Given the description of an element on the screen output the (x, y) to click on. 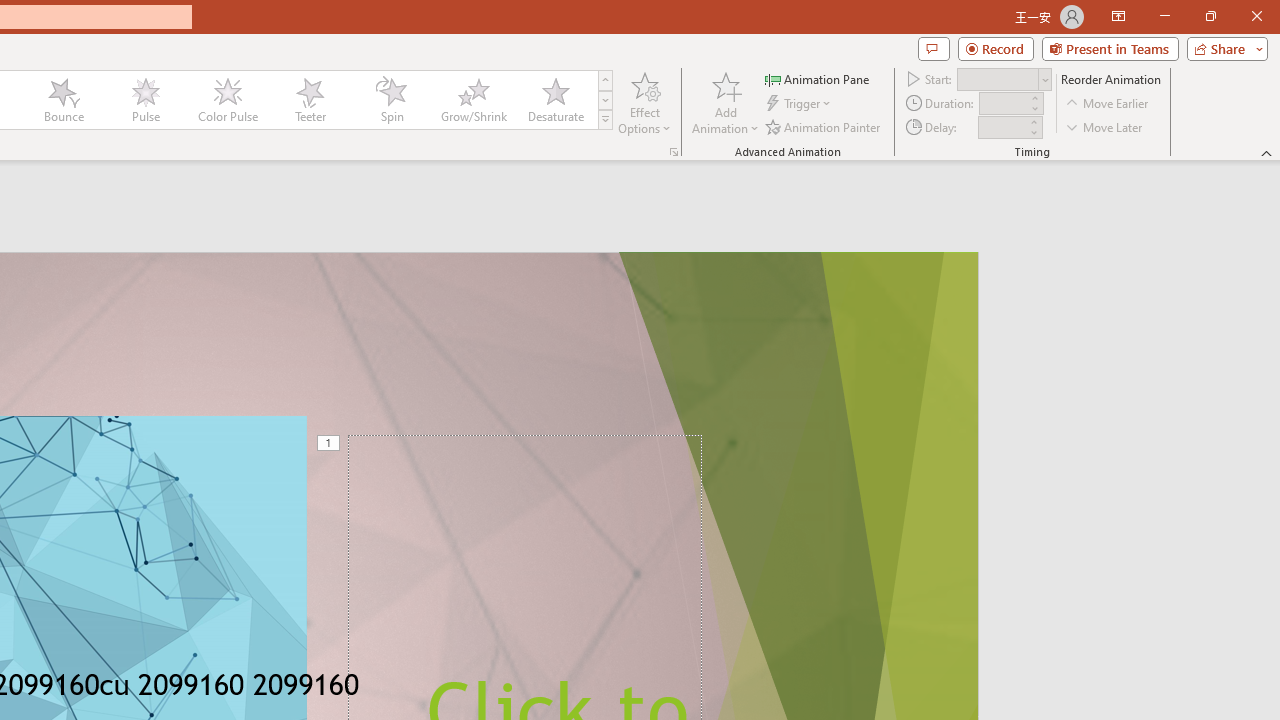
Class: NetUIImage (605, 119)
More (1033, 121)
Pulse (145, 100)
Desaturate (555, 100)
Row up (605, 79)
Open (1044, 79)
Animation Duration (1003, 103)
Animation Pane (818, 78)
Effect Options (644, 102)
